Given the description of an element on the screen output the (x, y) to click on. 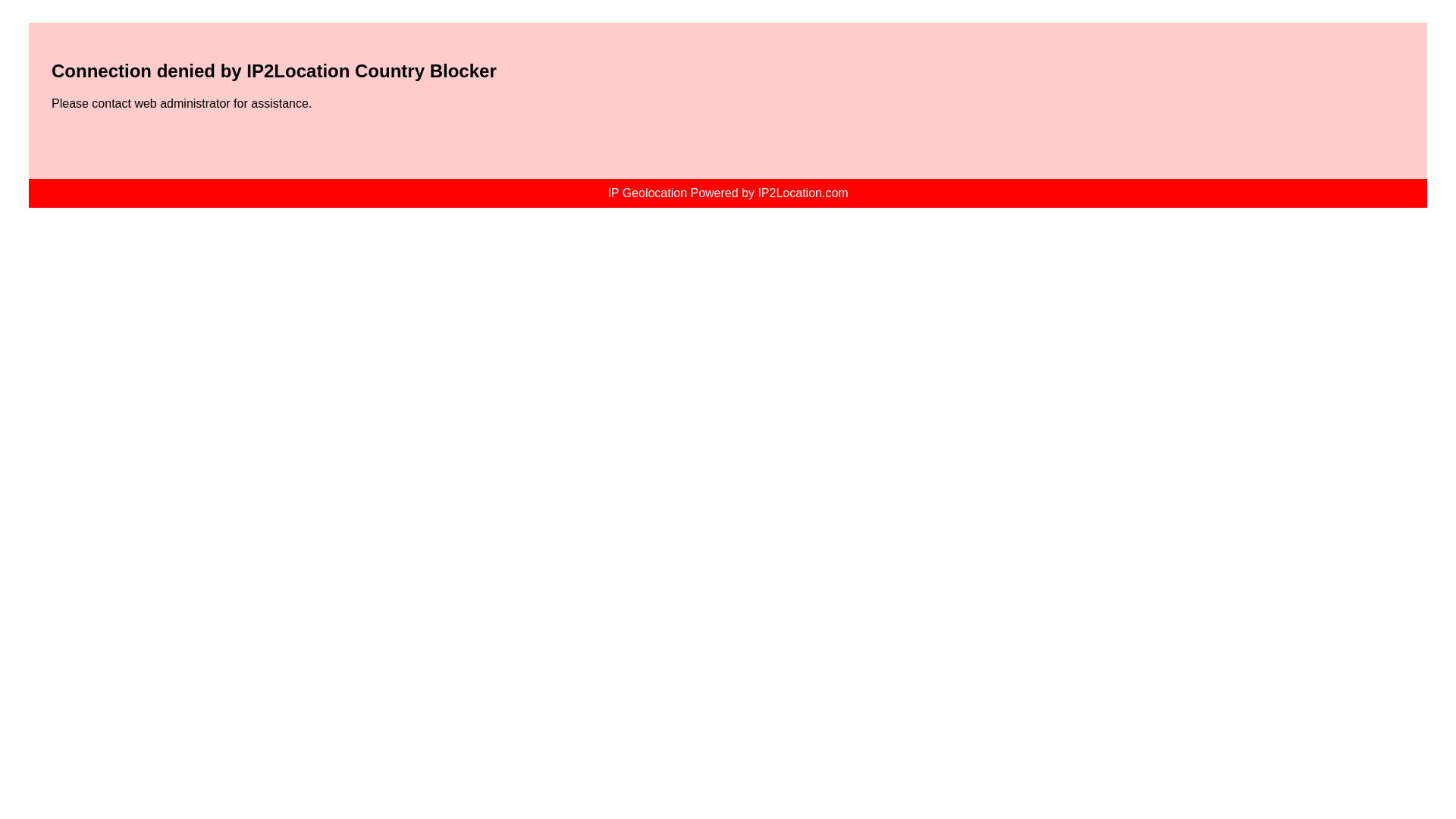
IP Geolocation Powered by IP2Location.com (727, 192)
